Given the description of an element on the screen output the (x, y) to click on. 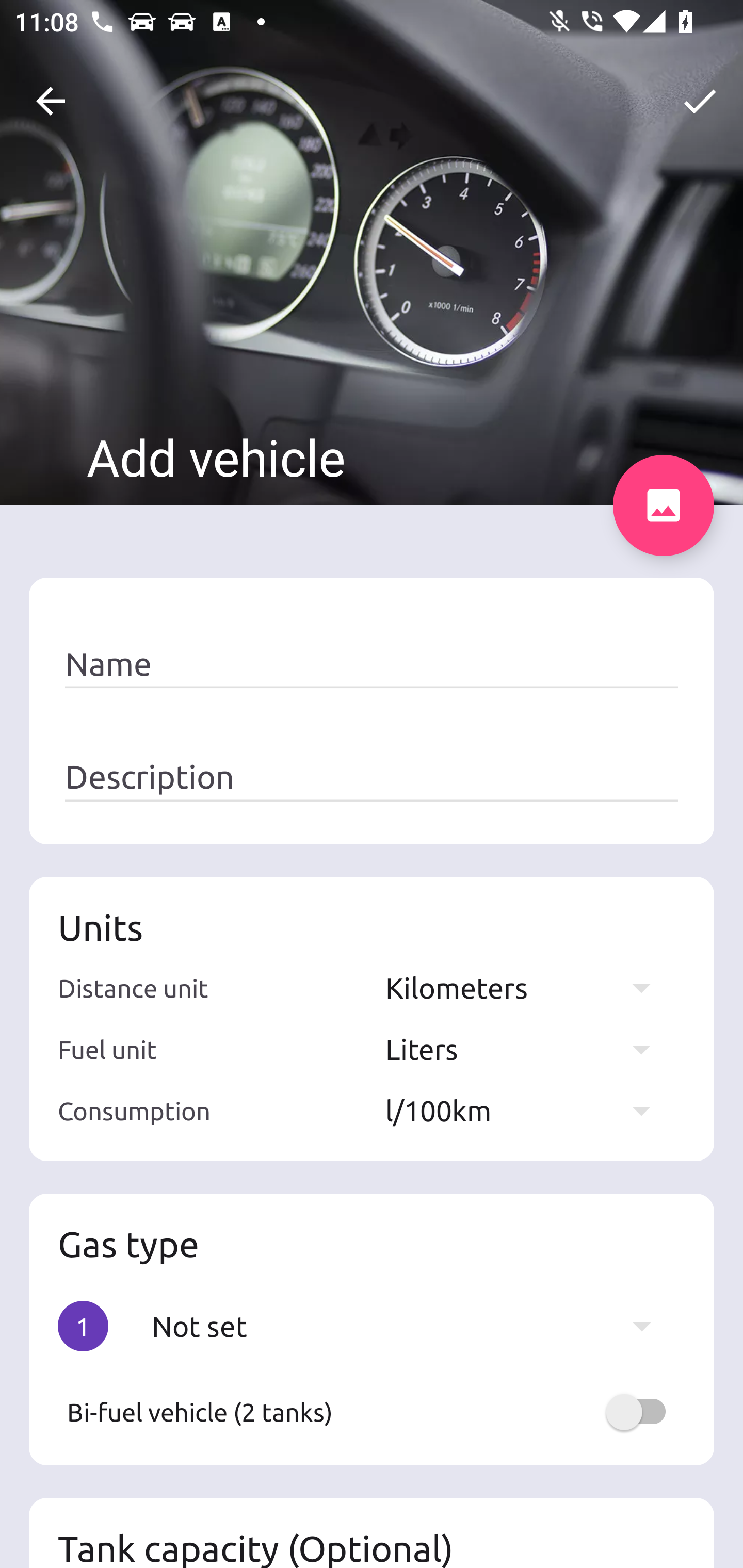
Navigate up (50, 101)
OK (699, 101)
Name (371, 664)
Description (371, 777)
Kilometers (527, 987)
Liters (527, 1048)
l/100km (527, 1110)
Not set (411, 1325)
Bi-fuel vehicle (2 tanks) (371, 1411)
